Given the description of an element on the screen output the (x, y) to click on. 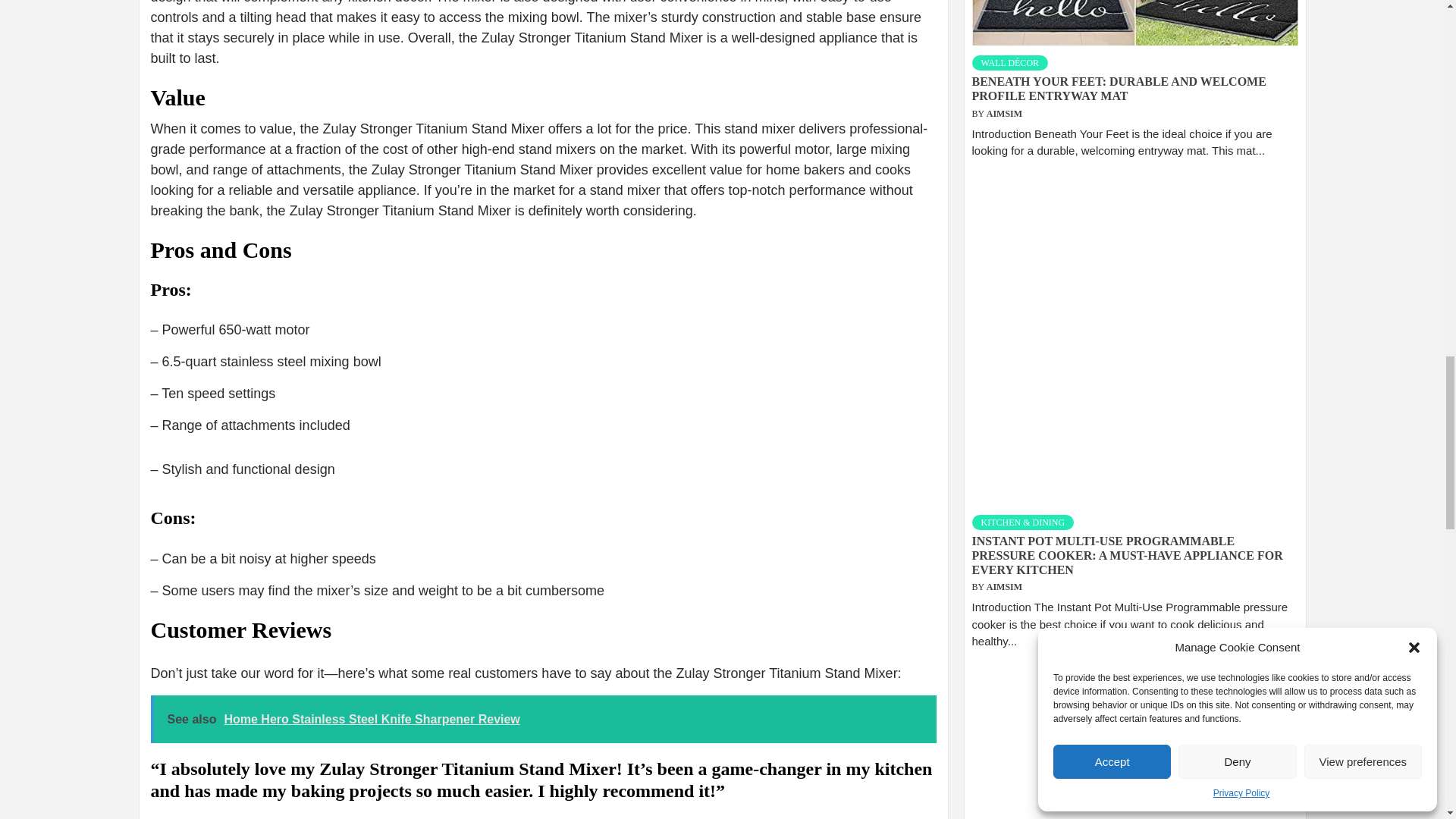
See also  Home Hero Stainless Steel Knife Sharpener Review (542, 718)
